Given the description of an element on the screen output the (x, y) to click on. 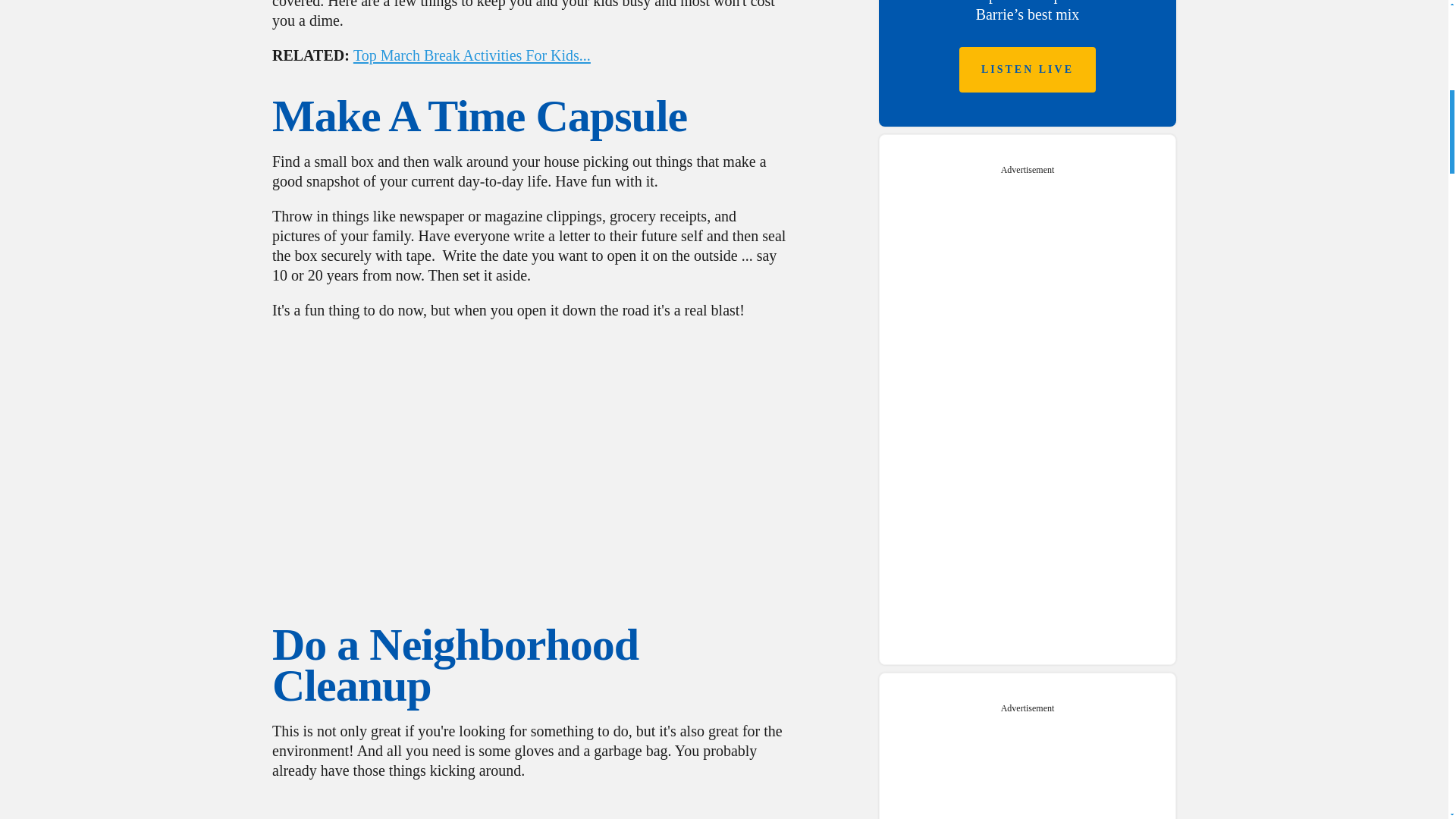
YouTube video player (529, 807)
YouTube video player (529, 454)
